Given the description of an element on the screen output the (x, y) to click on. 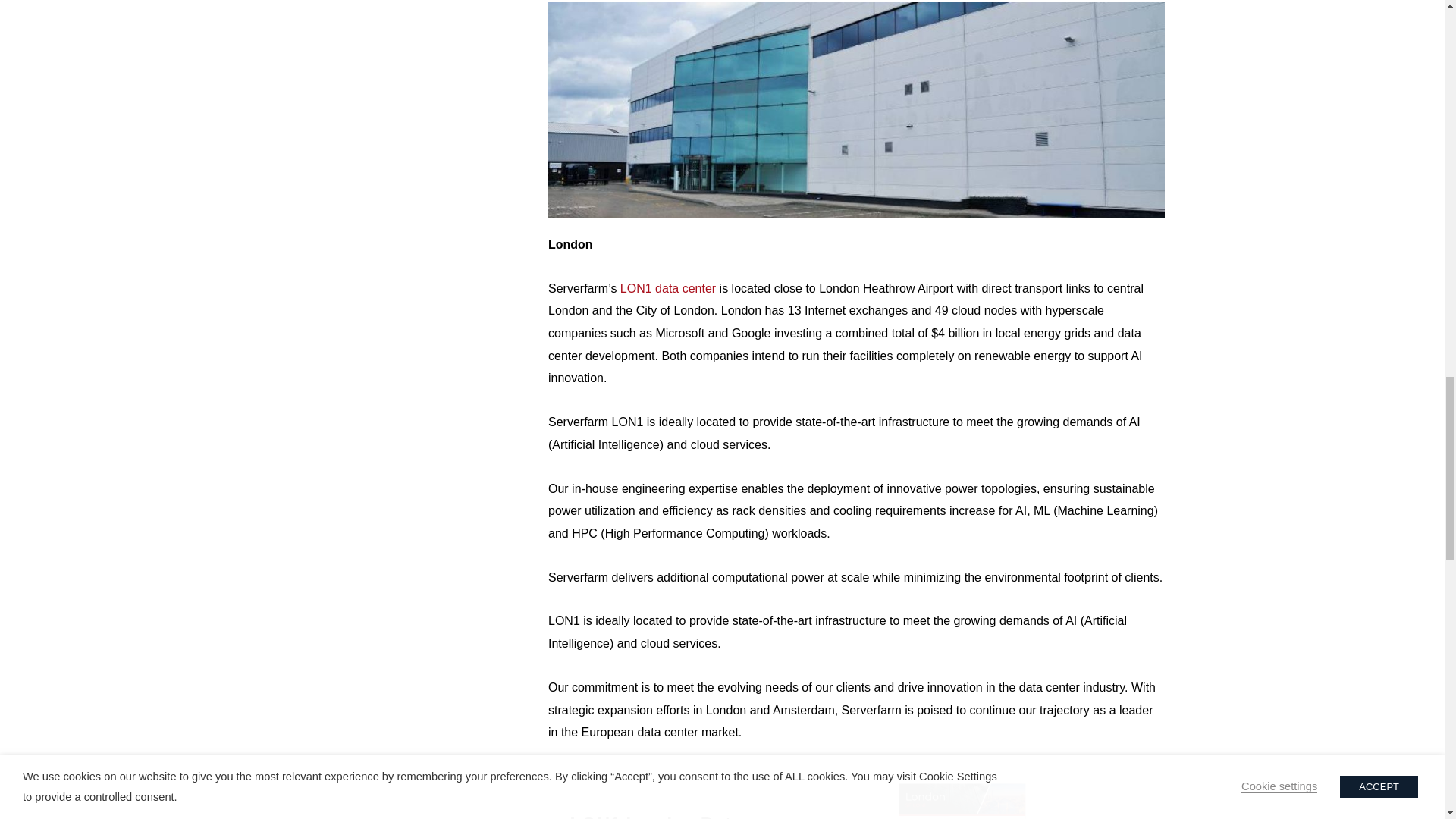
LON1 London Data Center Exterior (856, 110)
